Given the description of an element on the screen output the (x, y) to click on. 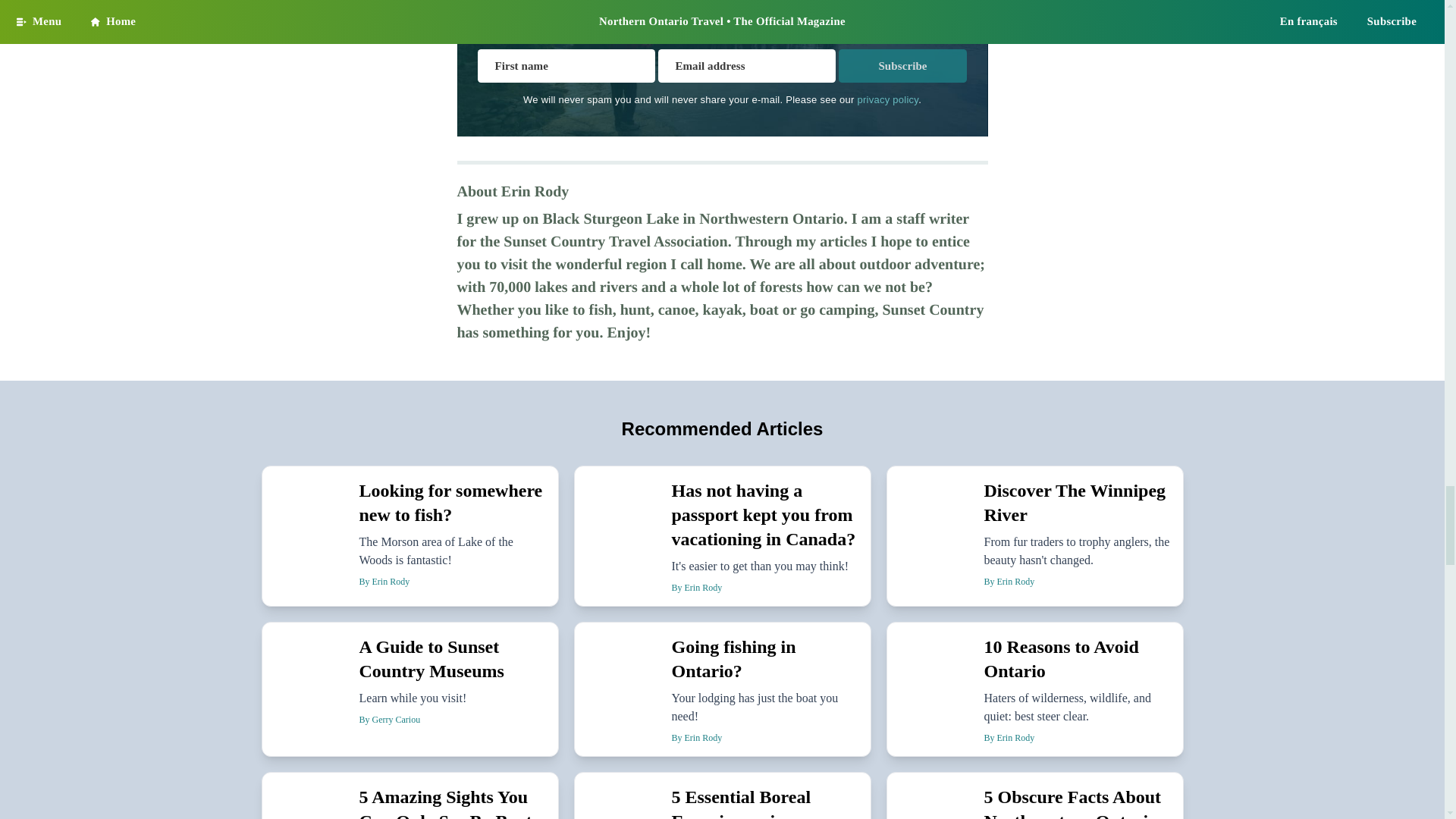
Privacy Policy (887, 99)
